Given the description of an element on the screen output the (x, y) to click on. 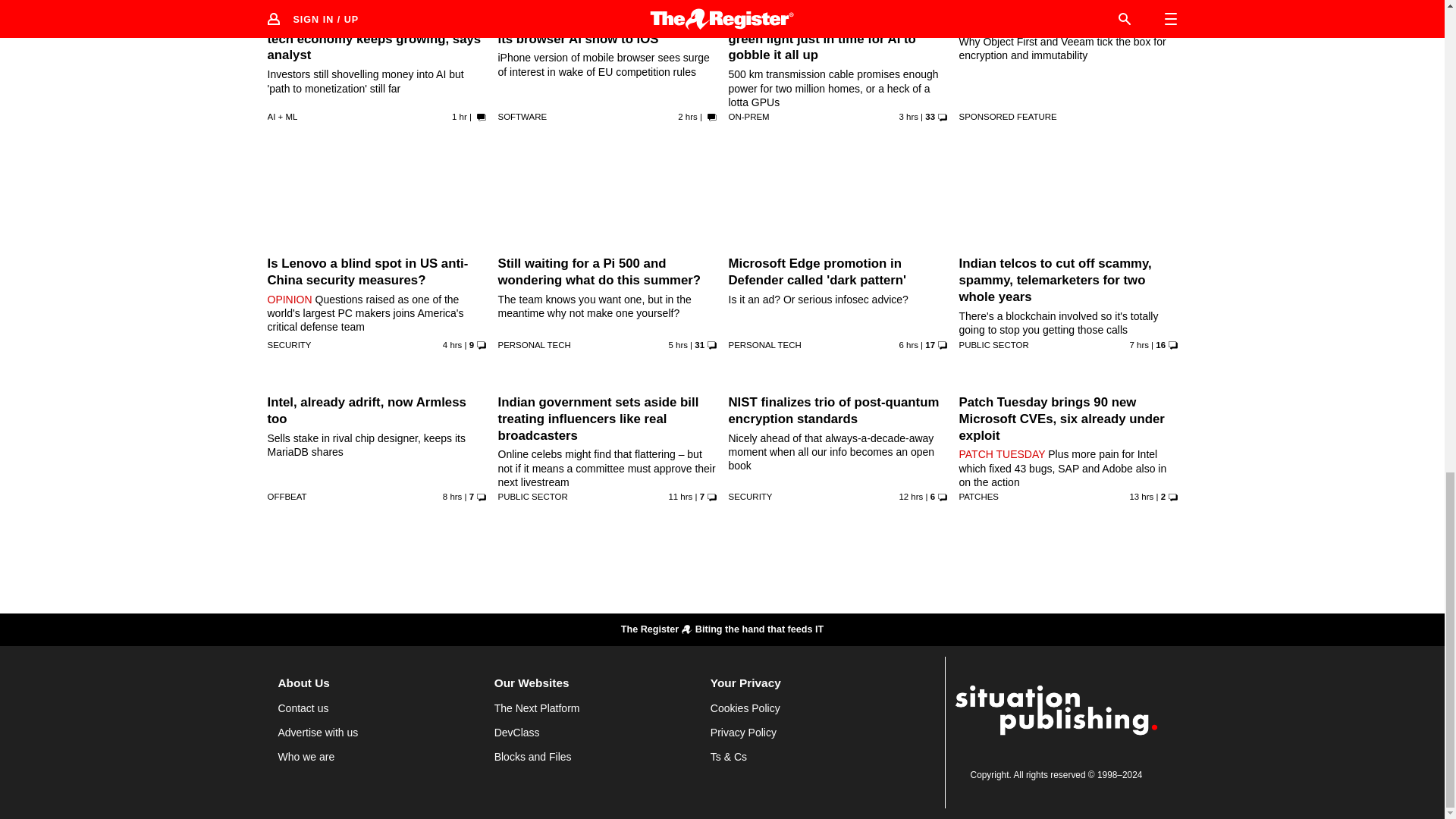
14 Aug 2024 6:29 (1138, 344)
14 Aug 2024 9:37 (452, 344)
14 Aug 2024 5:33 (452, 496)
14 Aug 2024 1:44 (910, 496)
14 Aug 2024 0:45 (1141, 496)
14 Aug 2024 12:41 (459, 116)
14 Aug 2024 11:26 (687, 116)
14 Aug 2024 8:35 (677, 344)
14 Aug 2024 3:2 (680, 496)
14 Aug 2024 10:46 (908, 116)
